Given the description of an element on the screen output the (x, y) to click on. 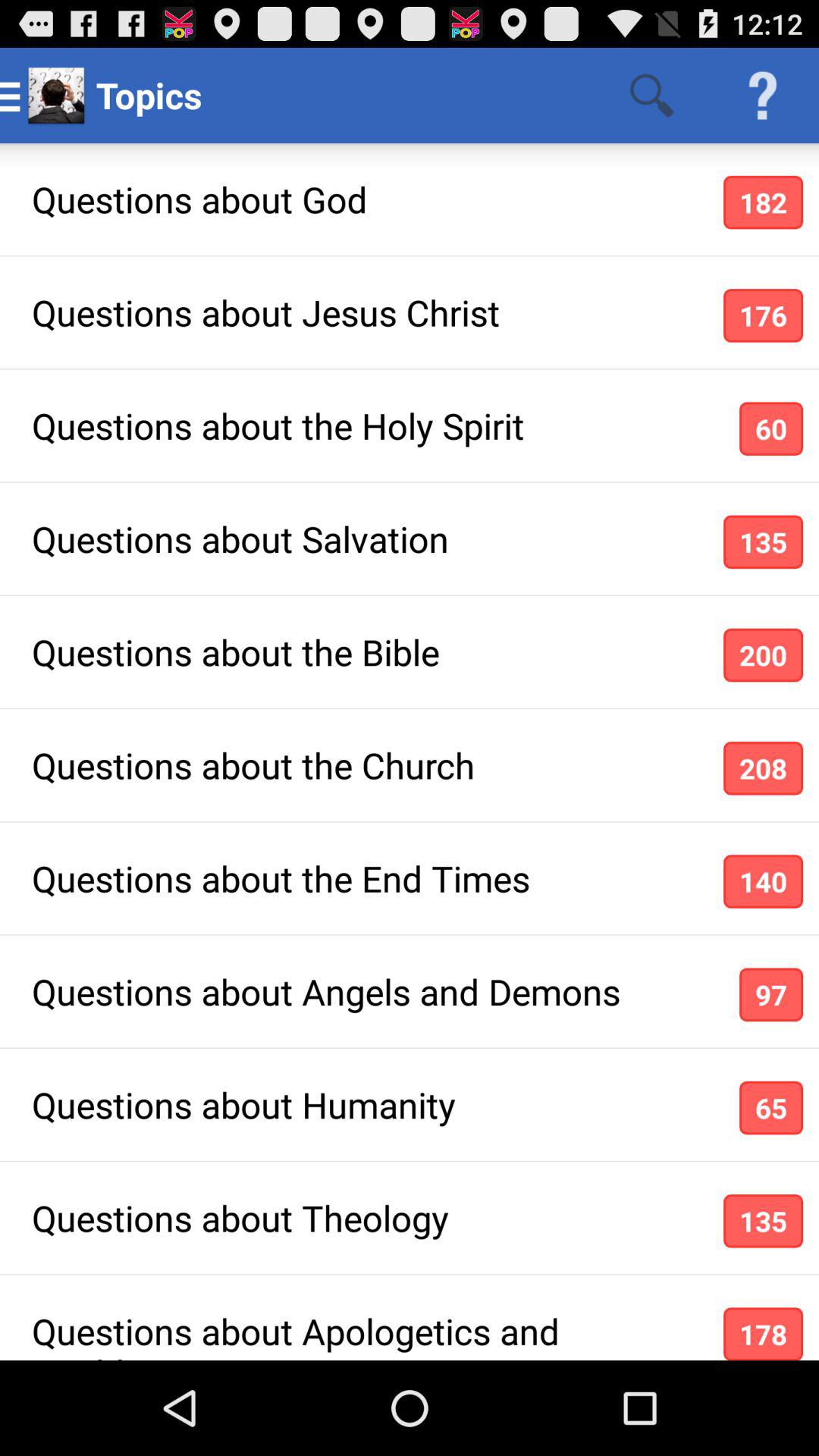
launch the app below questions about the icon (763, 768)
